Given the description of an element on the screen output the (x, y) to click on. 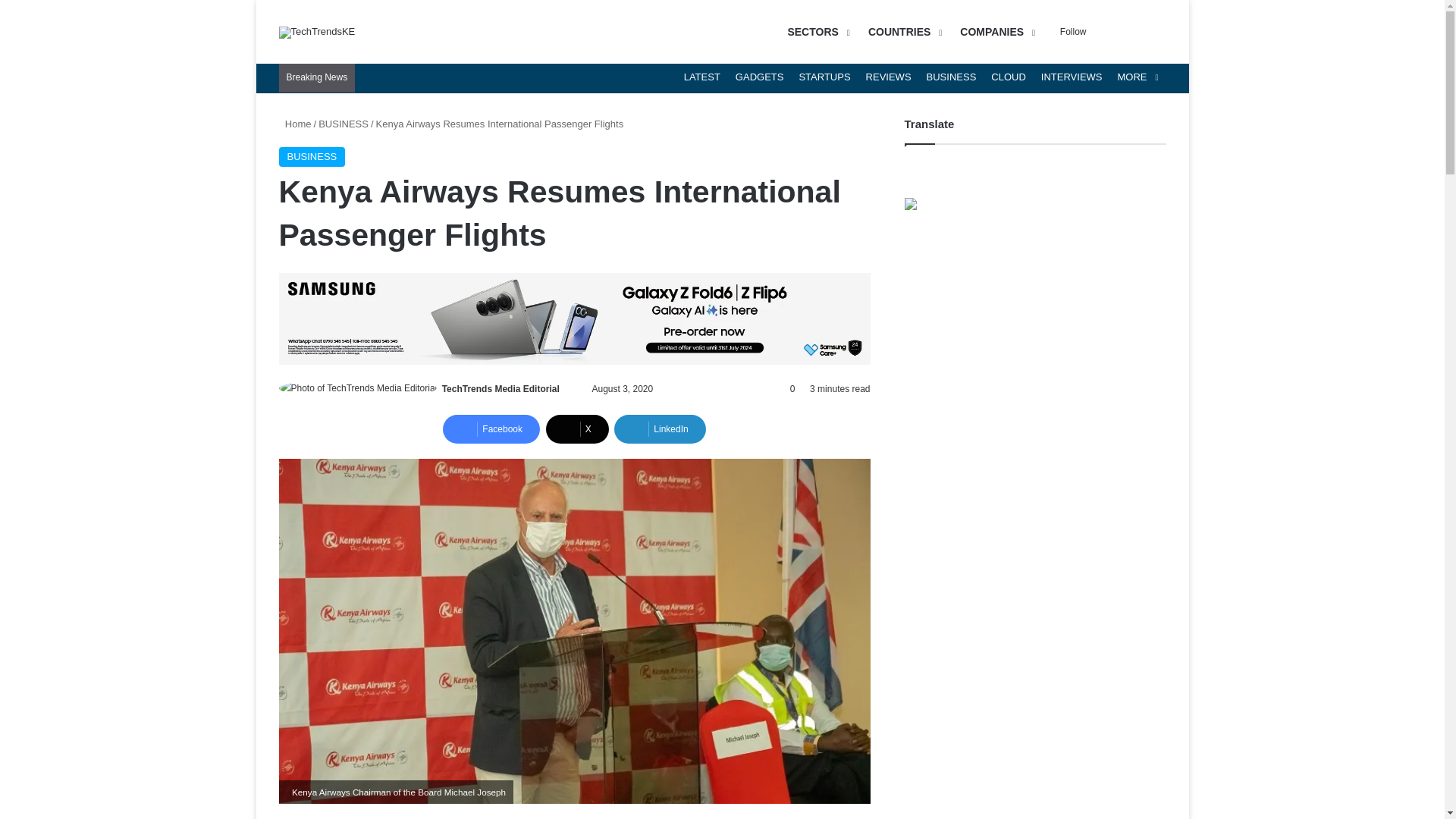
X (577, 428)
SECTORS (816, 31)
Facebook (491, 428)
TechTrends Media Editorial (500, 388)
LinkedIn (659, 428)
TechTrendsKE (317, 31)
COUNTRIES (903, 31)
COMPANIES (995, 31)
